Given the description of an element on the screen output the (x, y) to click on. 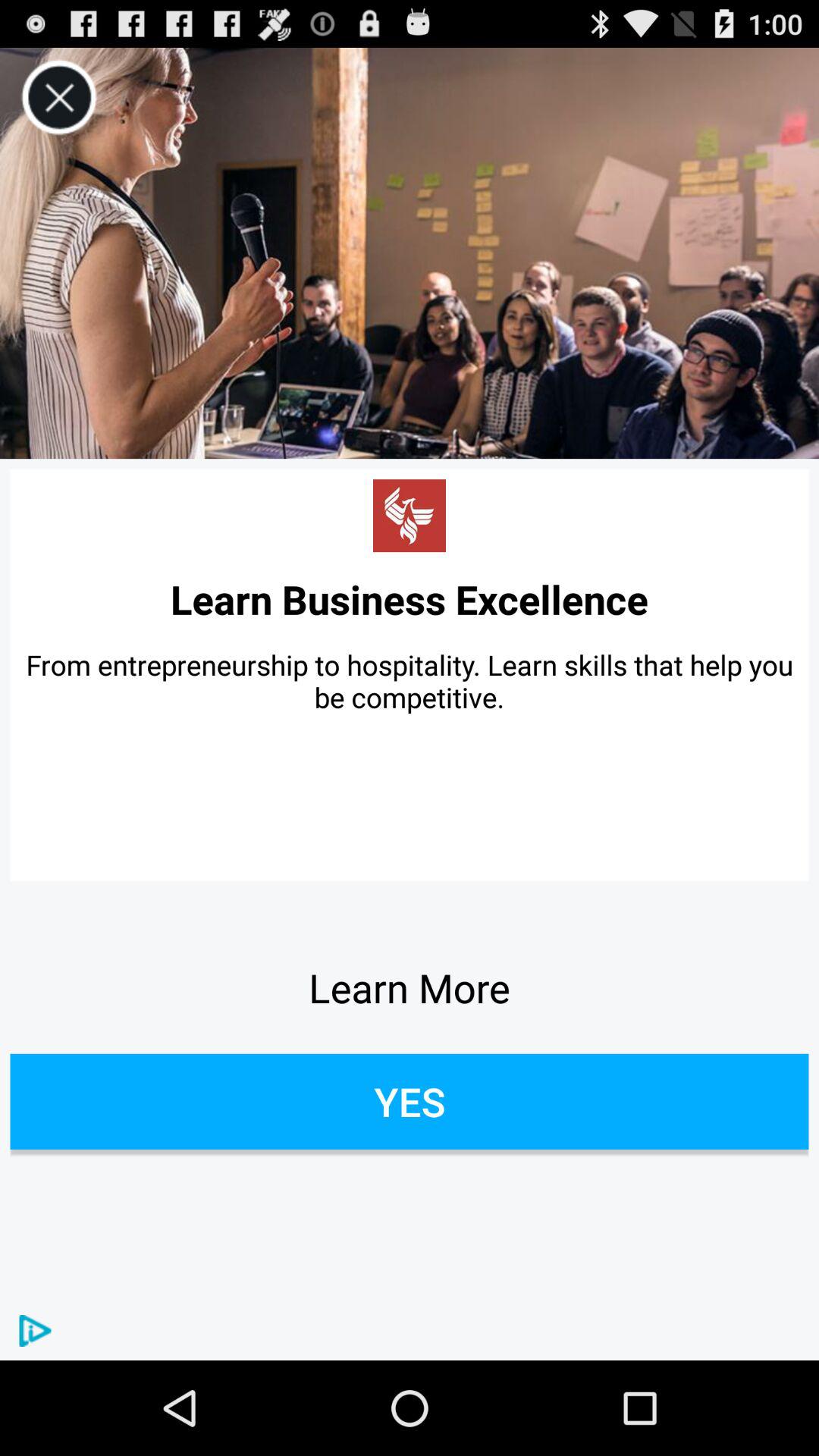
select icon above the learn business excellence (59, 97)
